Given the description of an element on the screen output the (x, y) to click on. 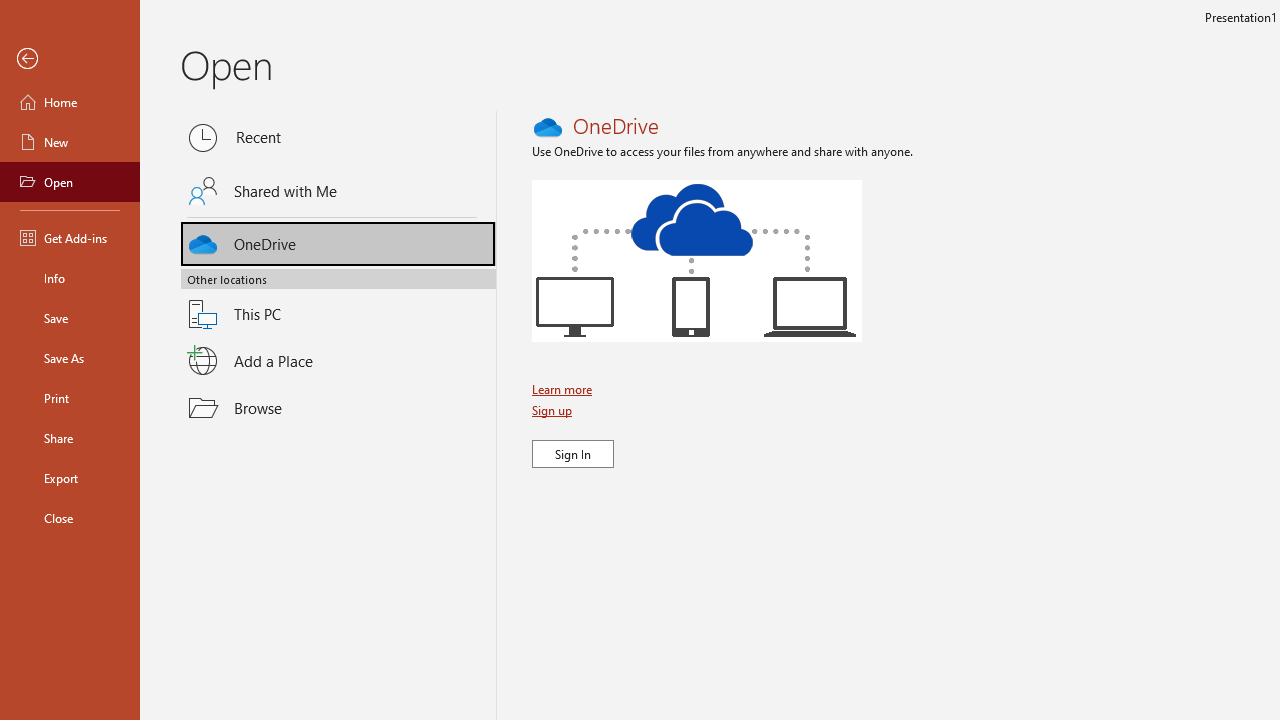
Shared with Me (338, 191)
Sign In (573, 453)
Export (69, 477)
This PC (338, 302)
Add a Place (338, 361)
Back (69, 59)
